Given the description of an element on the screen output the (x, y) to click on. 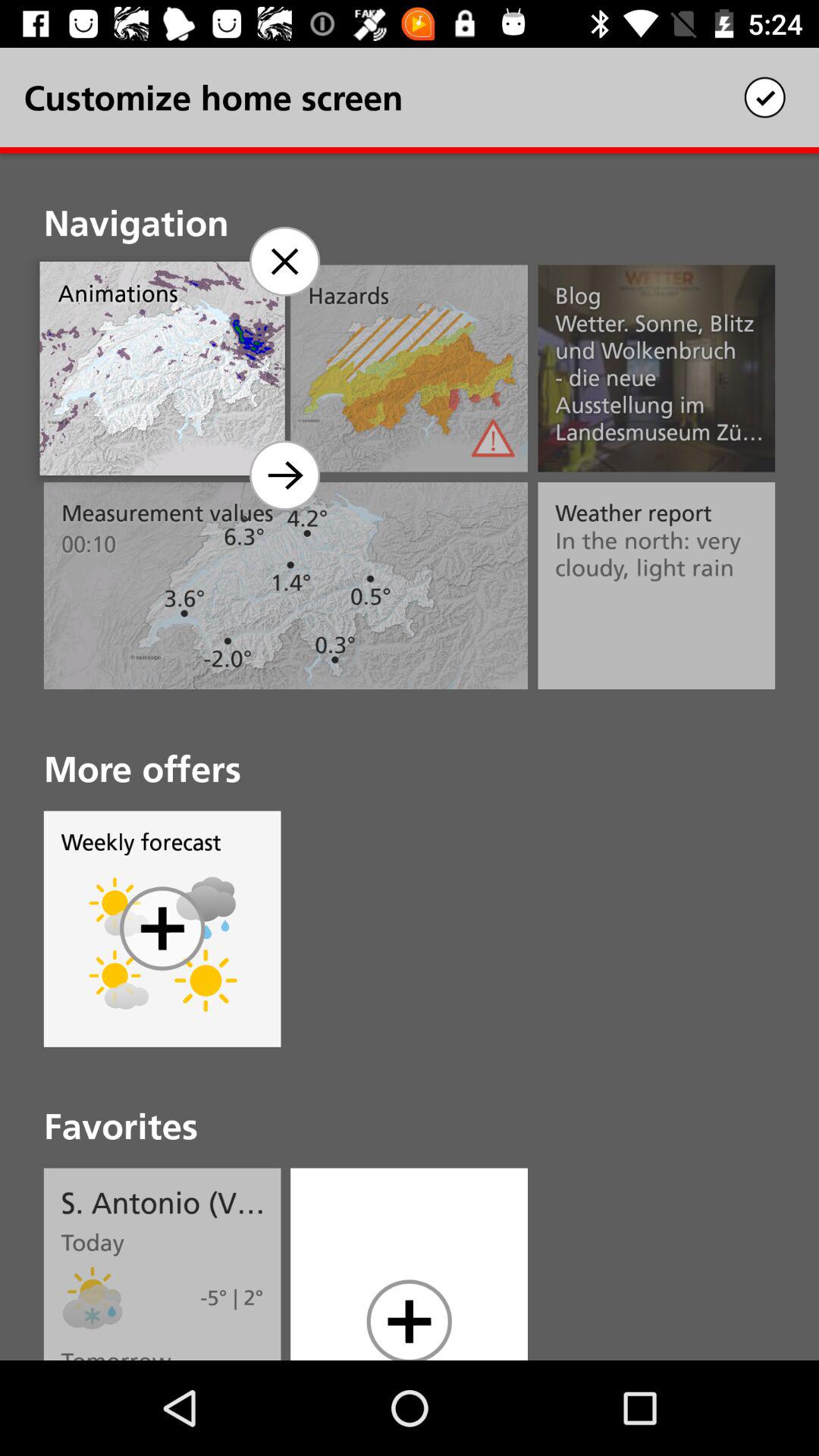
close this row (284, 261)
